Given the description of an element on the screen output the (x, y) to click on. 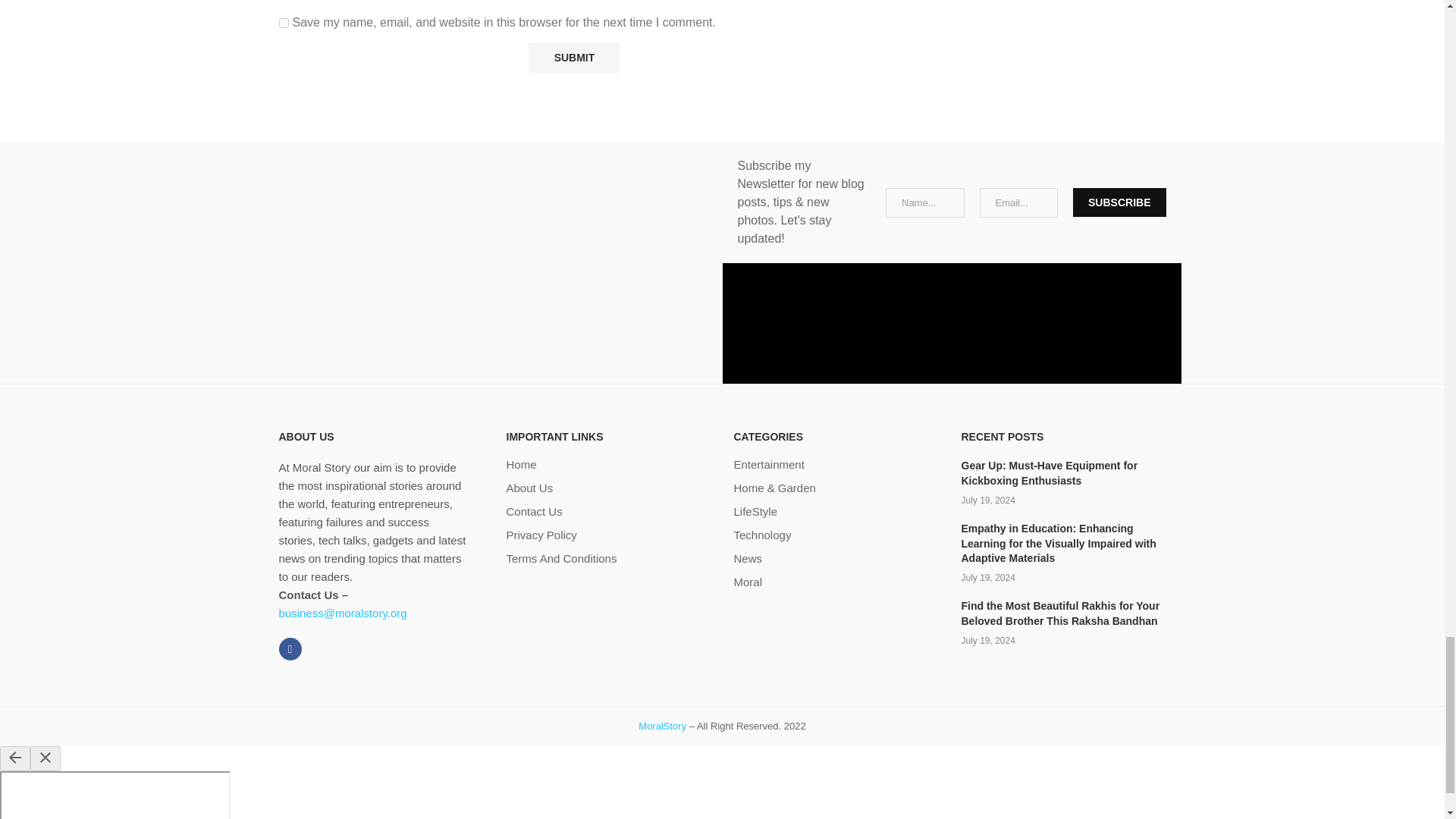
Subscribe (1119, 202)
yes (283, 22)
Submit (574, 57)
